Given the description of an element on the screen output the (x, y) to click on. 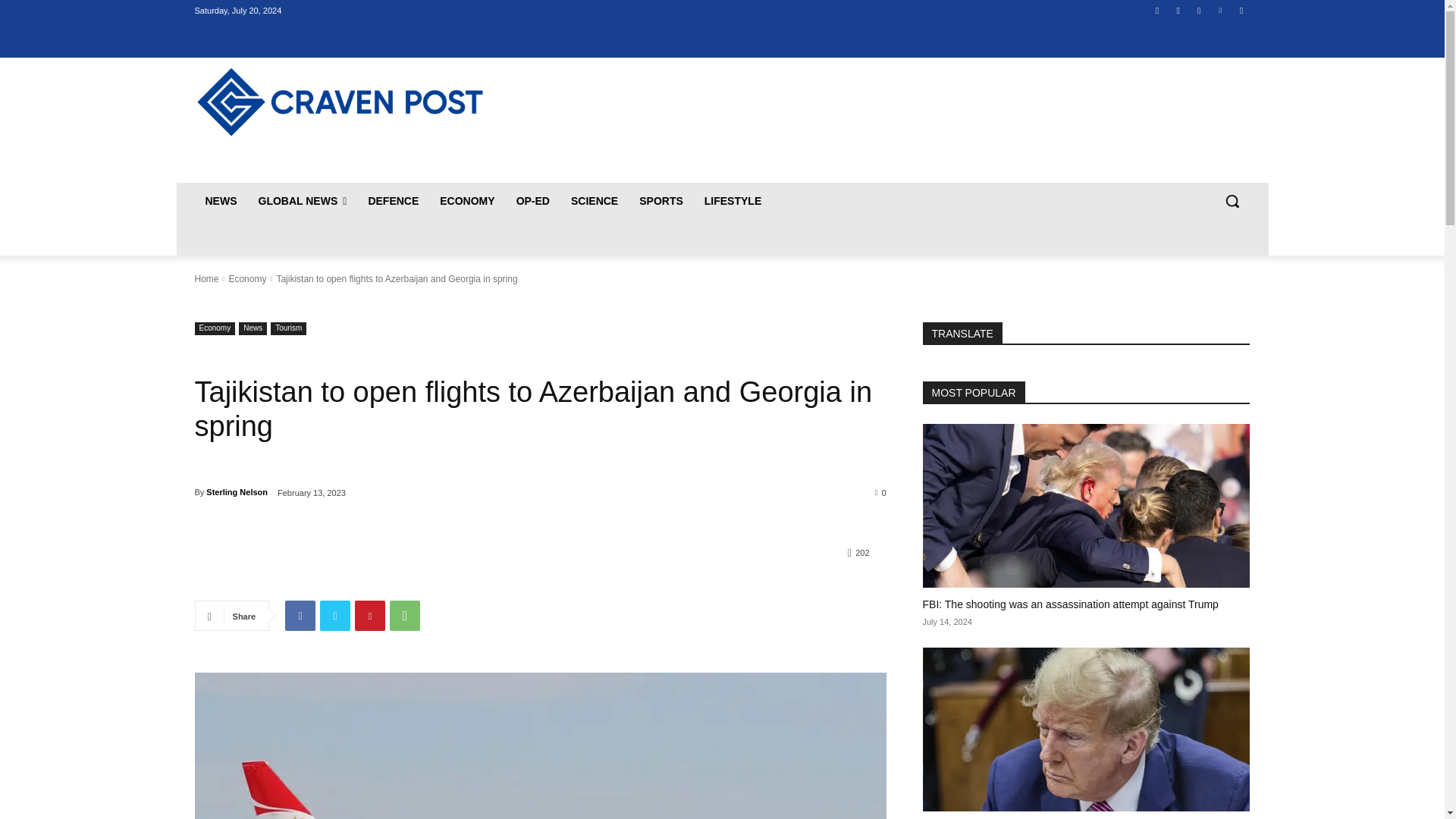
GLOBAL NEWS (301, 200)
WhatsApp (405, 615)
Youtube (1241, 9)
Instagram (1177, 9)
NEWS (220, 200)
Pinterest (370, 615)
Facebook (300, 615)
Facebook (1157, 9)
Twitter (1199, 9)
Vimeo (1219, 9)
Twitter (335, 615)
View all posts in Economy (247, 278)
